Given the description of an element on the screen output the (x, y) to click on. 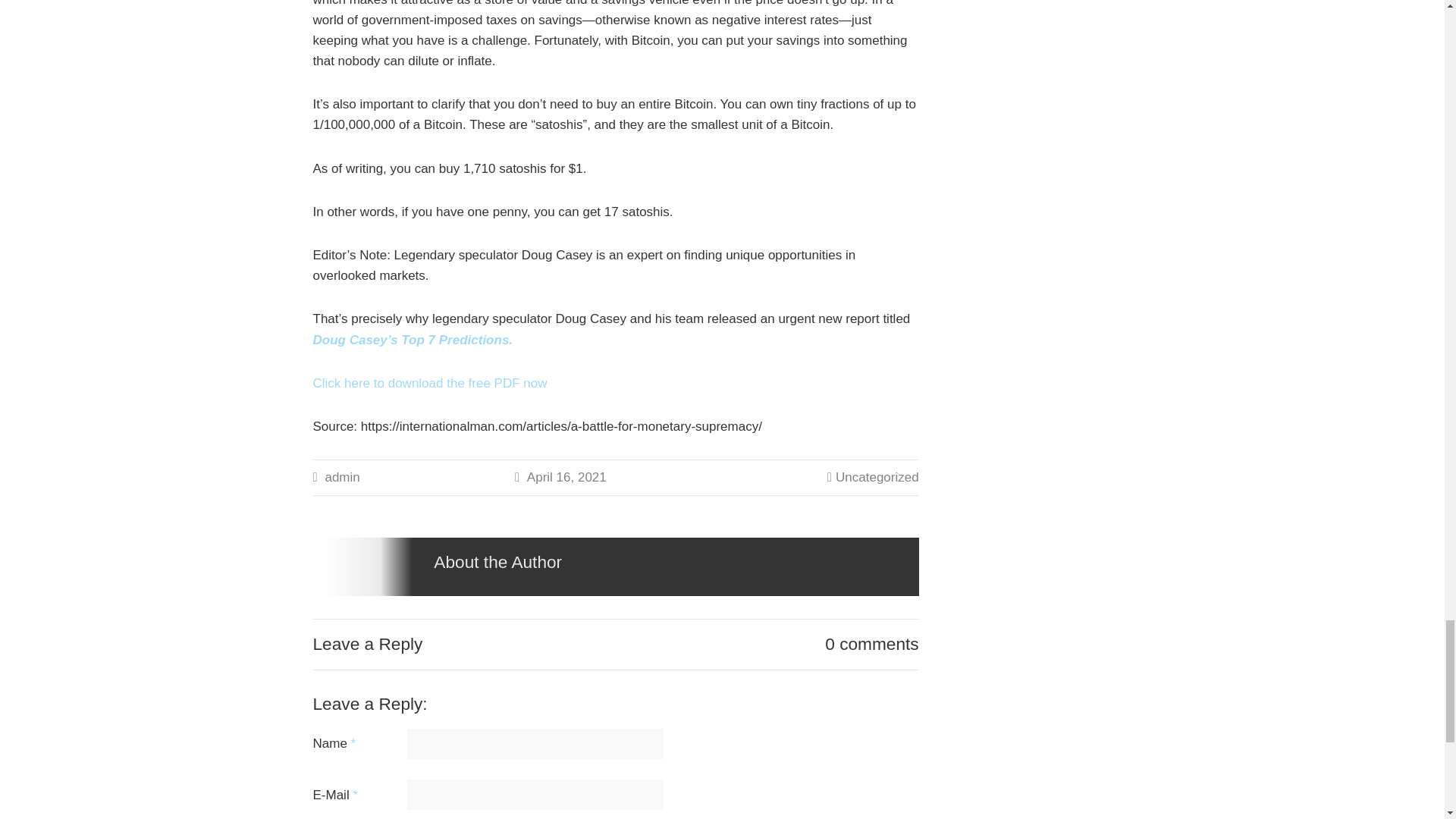
Uncategorized (876, 477)
Click here to download the free PDF now (430, 382)
admin (341, 477)
